Given the description of an element on the screen output the (x, y) to click on. 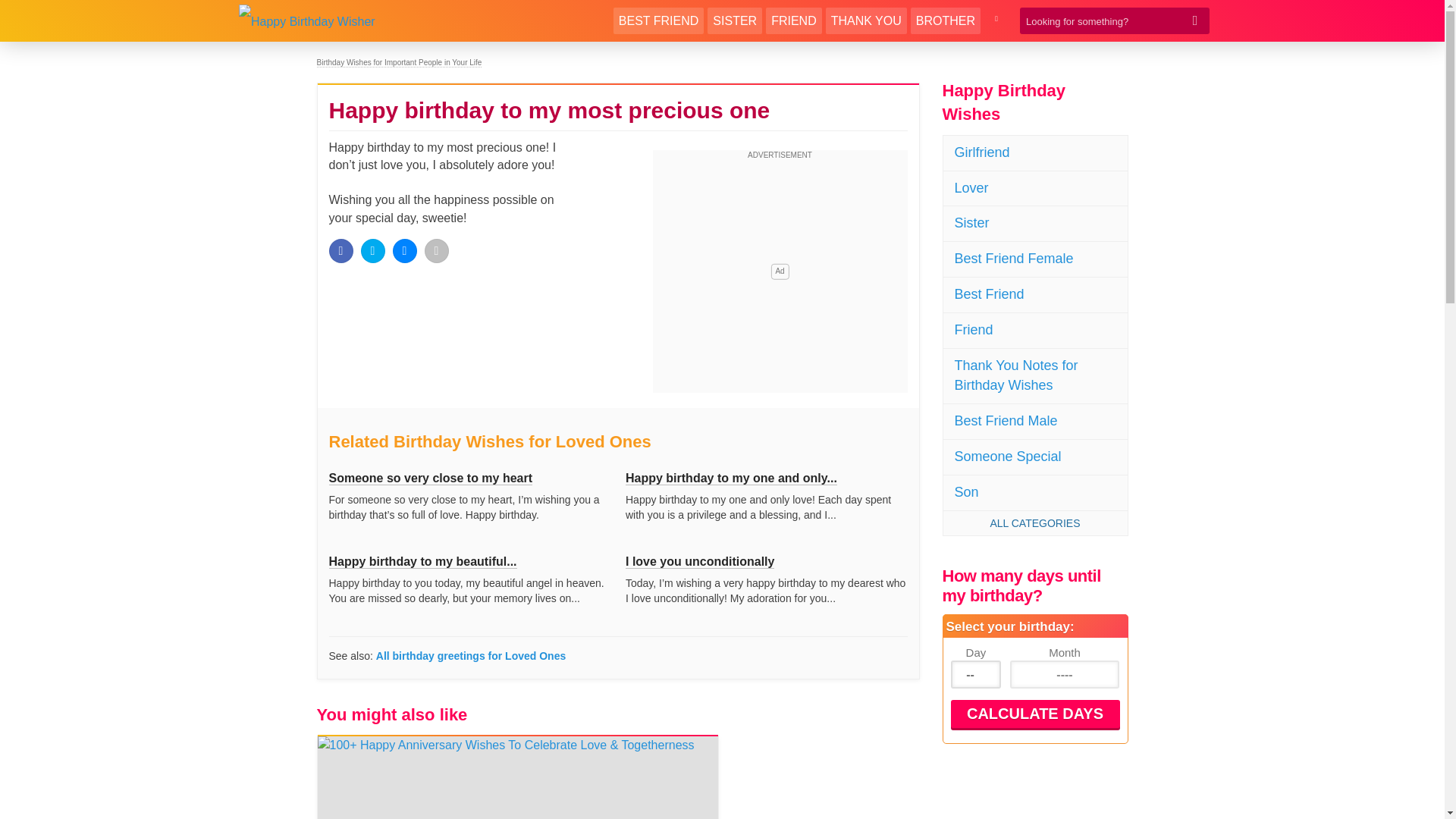
Girlfriend (1034, 152)
FRIEND (793, 20)
SISTER (734, 20)
All birthday greetings for Loved Ones (470, 655)
Someone so very close to my heart (430, 478)
Email (436, 250)
Birthday Wishes for Important People in Your Life (399, 62)
Calculate Days (1034, 714)
Tweet (373, 250)
BEST FRIEND (658, 20)
